Given the description of an element on the screen output the (x, y) to click on. 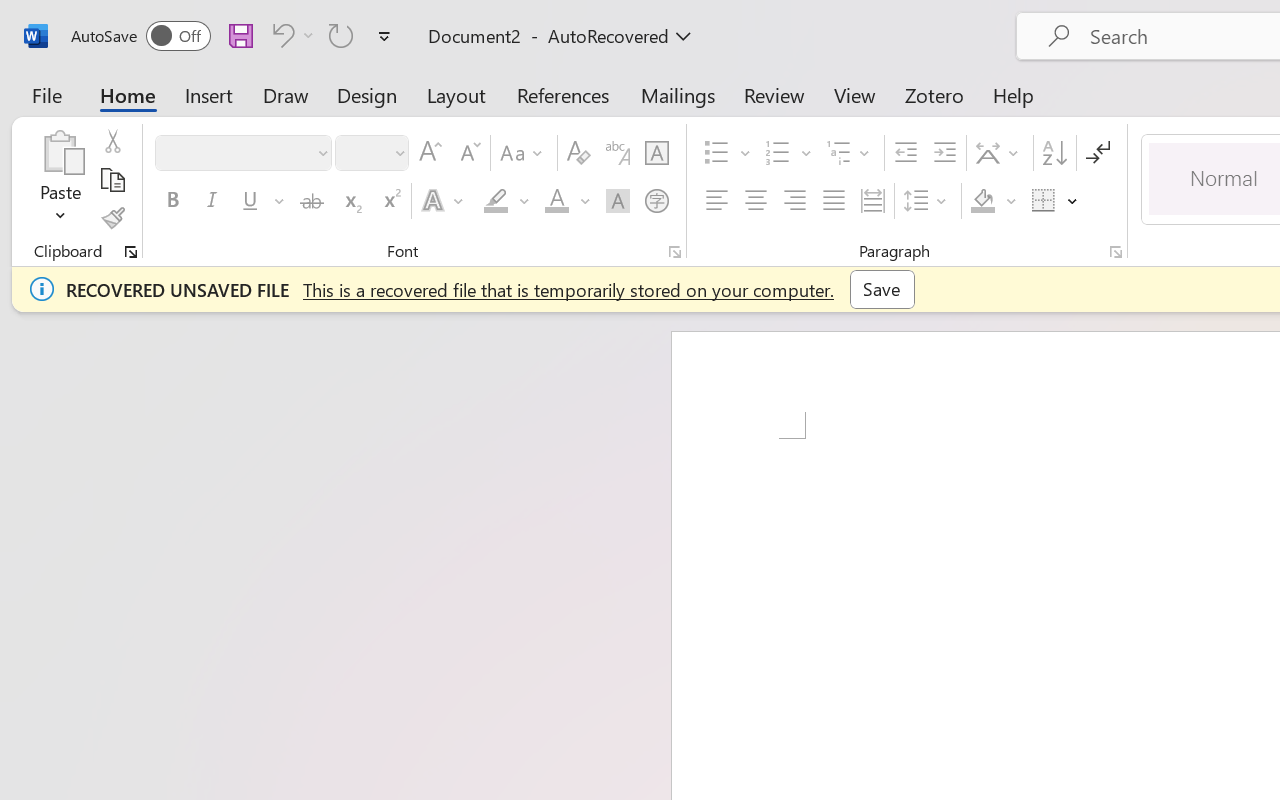
Activate (846, 195)
